Given the description of an element on the screen output the (x, y) to click on. 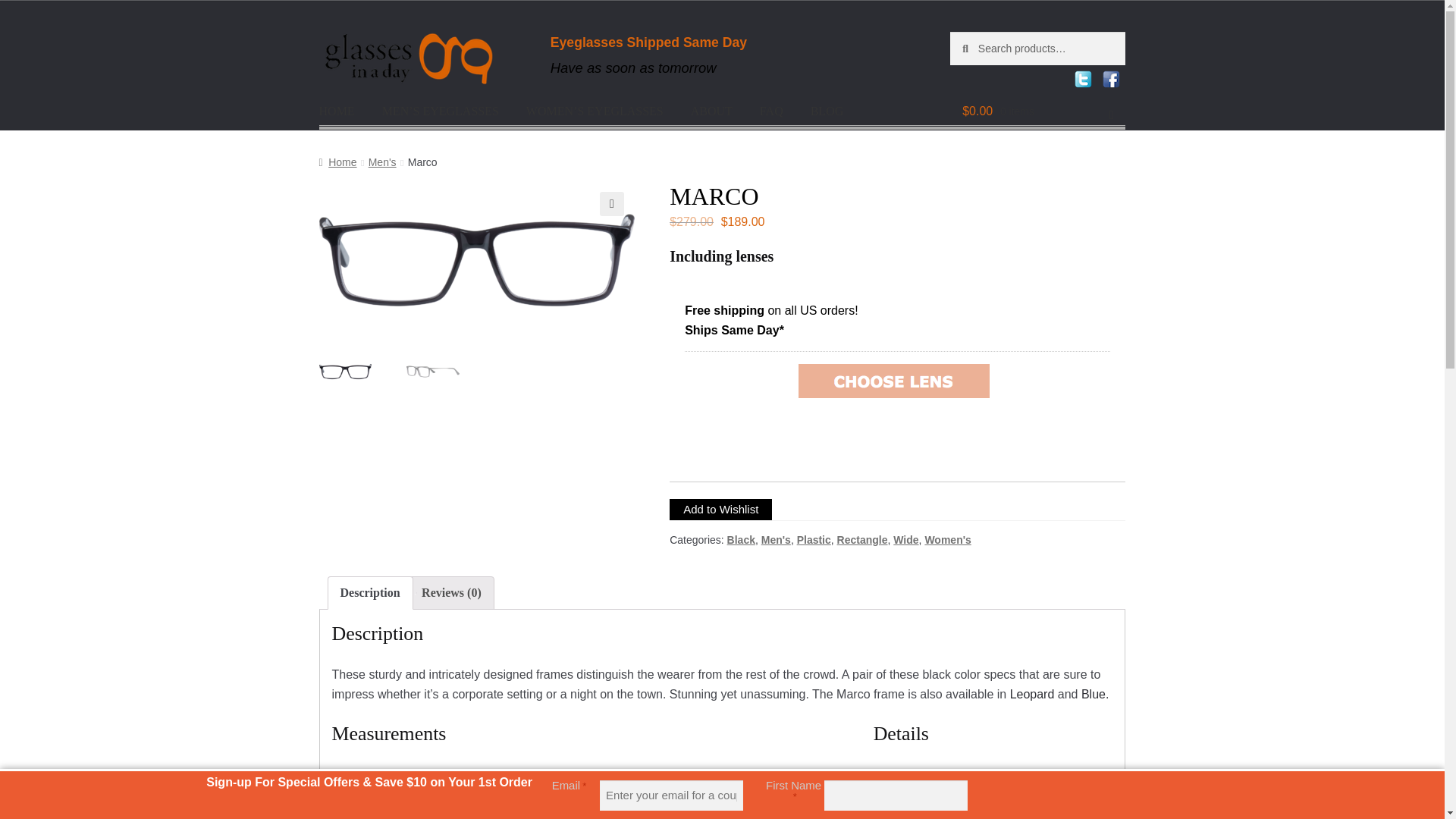
Plastic (813, 539)
Leopard (1032, 694)
Women's (947, 539)
Home (337, 162)
View your shopping cart (1037, 111)
Wide (905, 539)
Rectangle (862, 539)
Marco 2 (792, 259)
Add to Wishlist (720, 509)
Black (740, 539)
ABOUT (711, 111)
Description (370, 593)
Blue. (1094, 694)
